Given the description of an element on the screen output the (x, y) to click on. 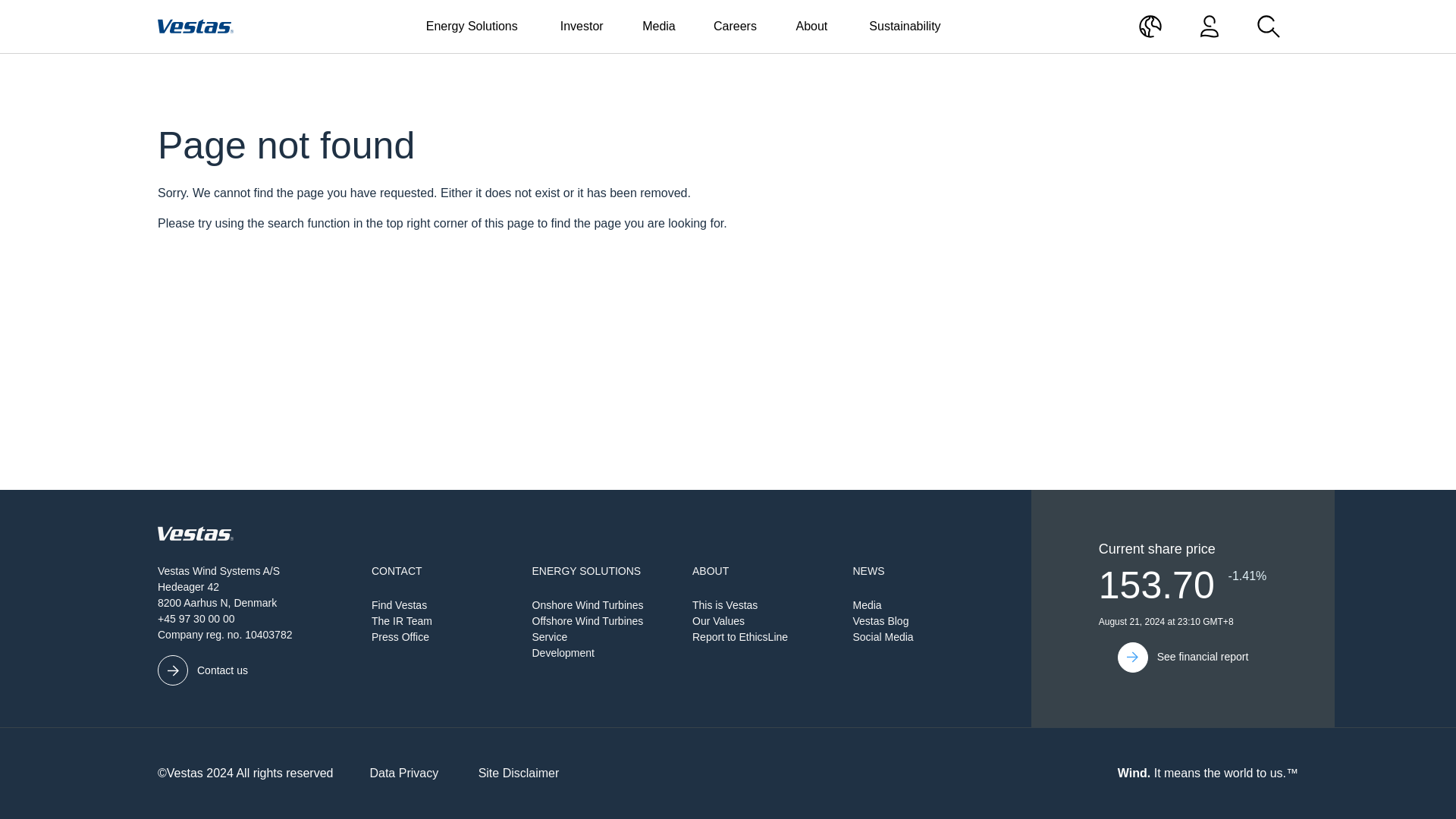
Careers (735, 26)
Energy Solutions (471, 26)
Sustainability (904, 26)
Media (658, 26)
About (811, 26)
Investor (581, 26)
